Given the description of an element on the screen output the (x, y) to click on. 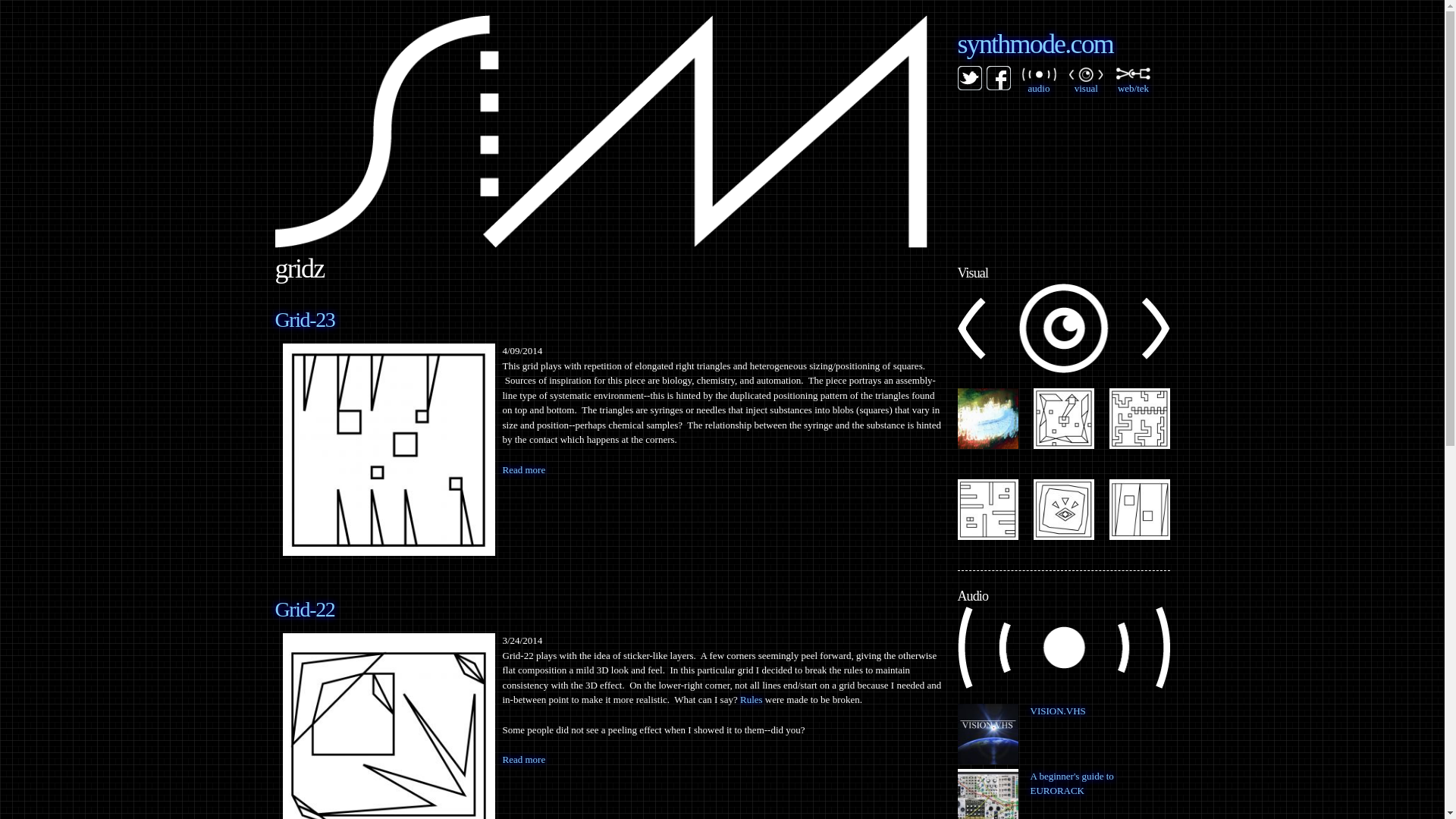
Grid-23 (388, 449)
Grid-22 (304, 608)
visual (1085, 81)
synthmode.com (1034, 43)
Return to the synthmode.com home page (600, 240)
audio (1039, 81)
Skip to main content (691, 16)
Grid-23 (304, 319)
Return to the synthmode.com home page (1034, 43)
Read more (523, 758)
Rules (750, 699)
Read more (523, 469)
Grid-22 (388, 726)
